Given the description of an element on the screen output the (x, y) to click on. 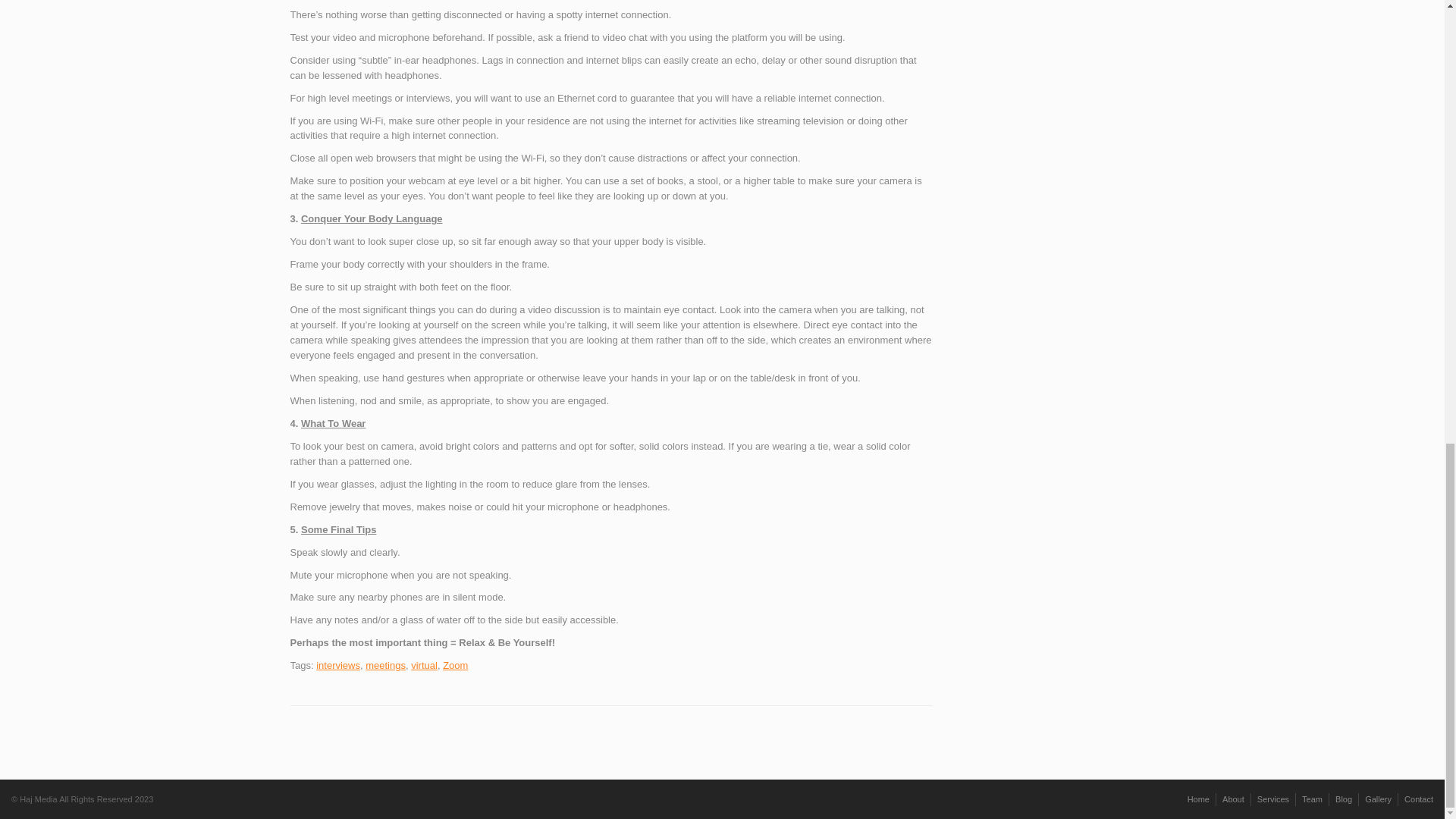
Zoom (454, 665)
meetings (385, 665)
Home (1198, 798)
interviews (337, 665)
About (1233, 798)
Services (1272, 798)
virtual (424, 665)
